Given the description of an element on the screen output the (x, y) to click on. 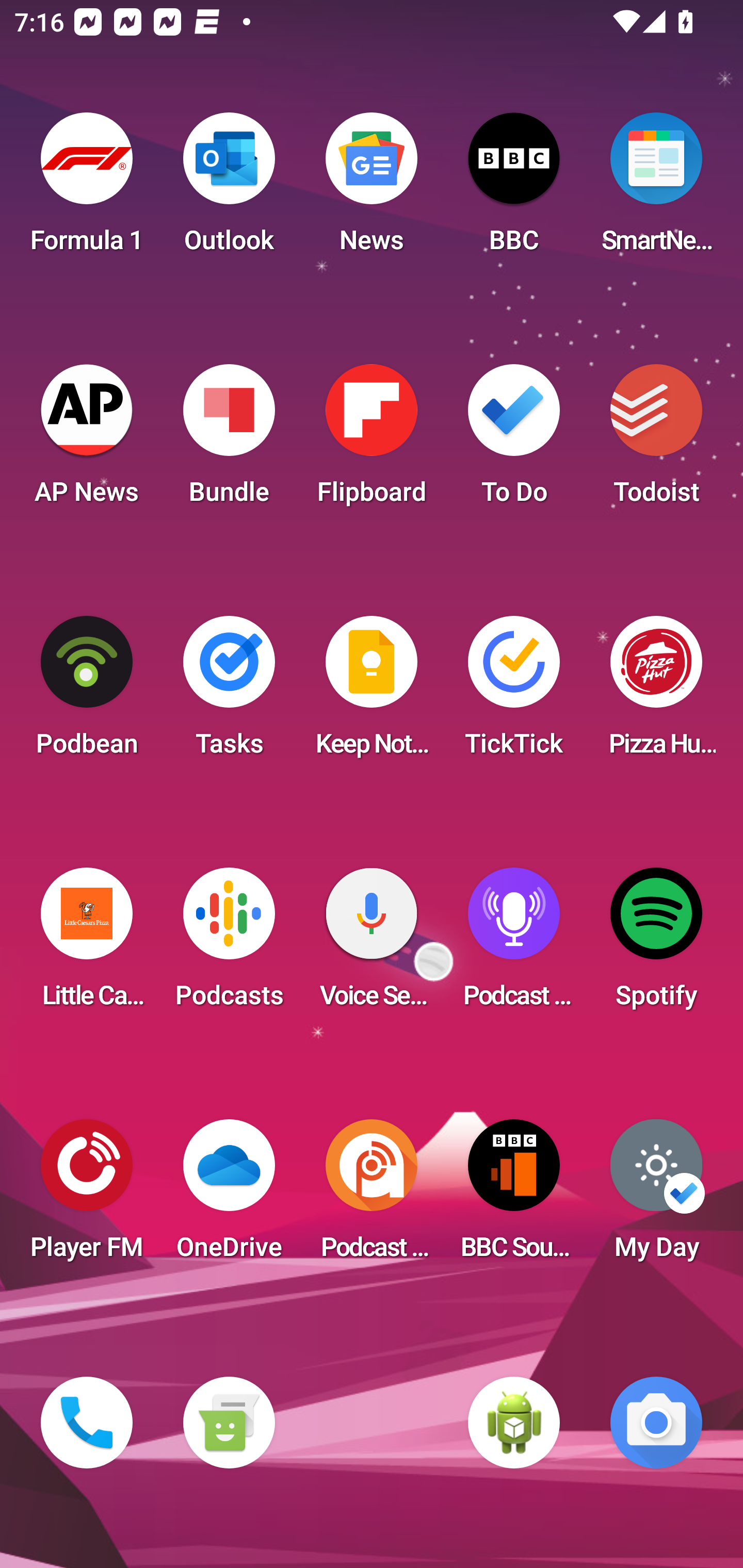
Formula 1 (86, 188)
Outlook (228, 188)
News (371, 188)
BBC (513, 188)
SmartNews (656, 188)
AP News (86, 440)
Bundle (228, 440)
Flipboard (371, 440)
To Do (513, 440)
Todoist (656, 440)
Podbean (86, 692)
Tasks (228, 692)
Keep Notes (371, 692)
TickTick (513, 692)
Pizza Hut HK & Macau (656, 692)
Little Caesars Pizza (86, 943)
Podcasts (228, 943)
Voice Search (371, 943)
Podcast Player (513, 943)
Spotify (656, 943)
Player FM (86, 1195)
OneDrive (228, 1195)
Podcast Addict (371, 1195)
BBC Sounds (513, 1195)
My Day (656, 1195)
Phone (86, 1422)
Messaging (228, 1422)
WebView Browser Tester (513, 1422)
Camera (656, 1422)
